Given the description of an element on the screen output the (x, y) to click on. 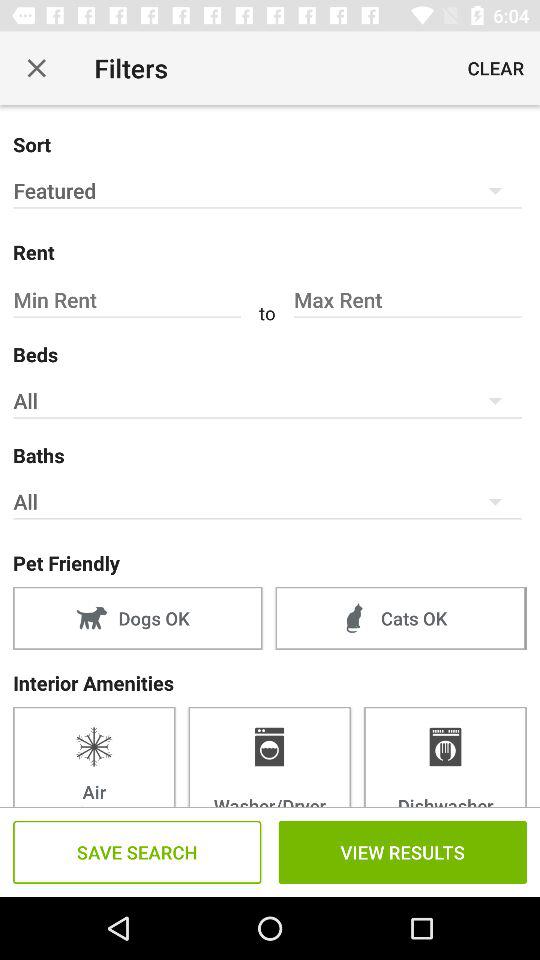
click the item to the right of the washer/dryer item (445, 756)
